Given the description of an element on the screen output the (x, y) to click on. 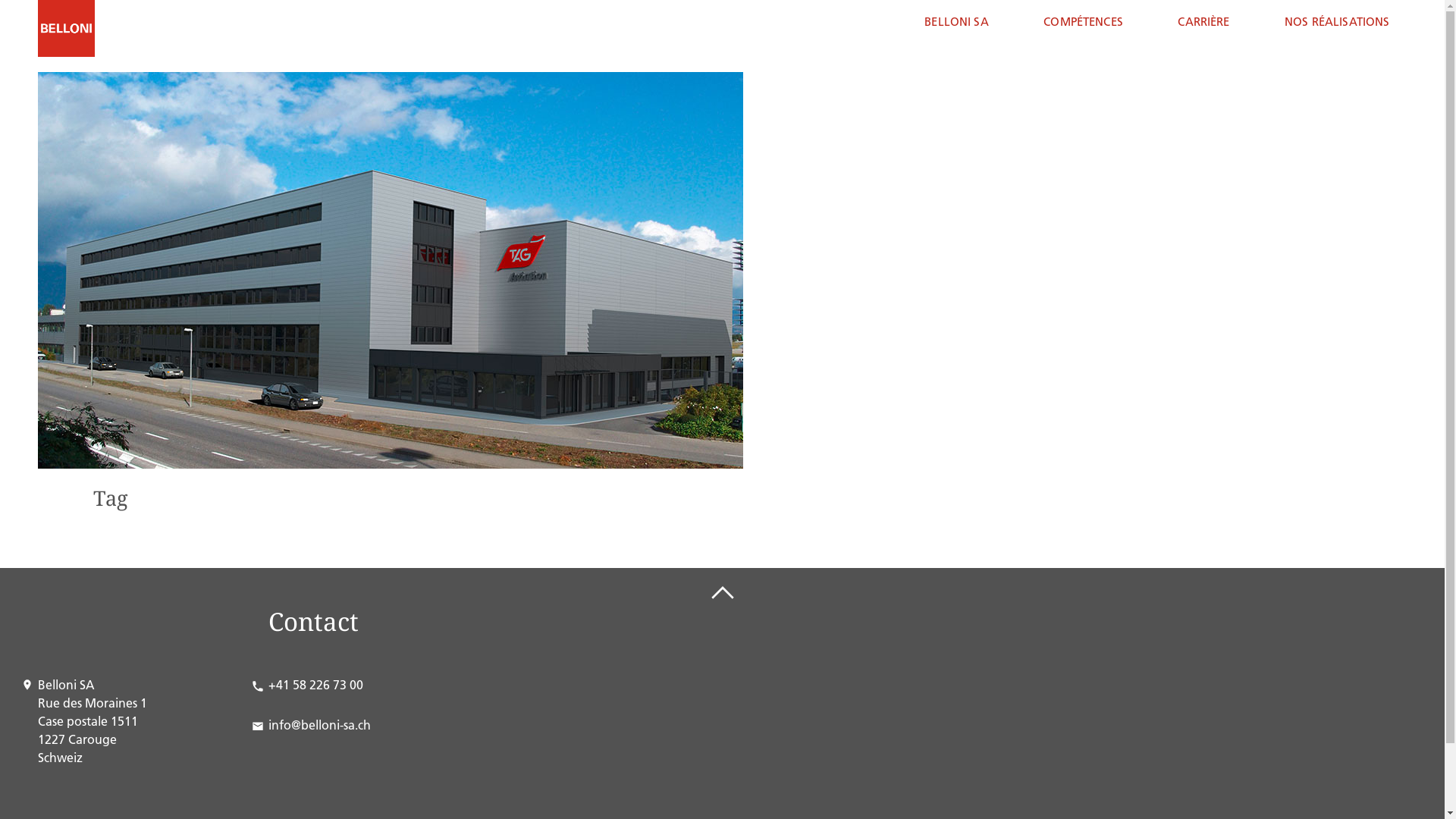
BELLONI SA Element type: text (956, 21)
info@belloni-sa.ch Element type: text (319, 724)
+41 58 226 73 00 Element type: text (315, 684)
